Given the description of an element on the screen output the (x, y) to click on. 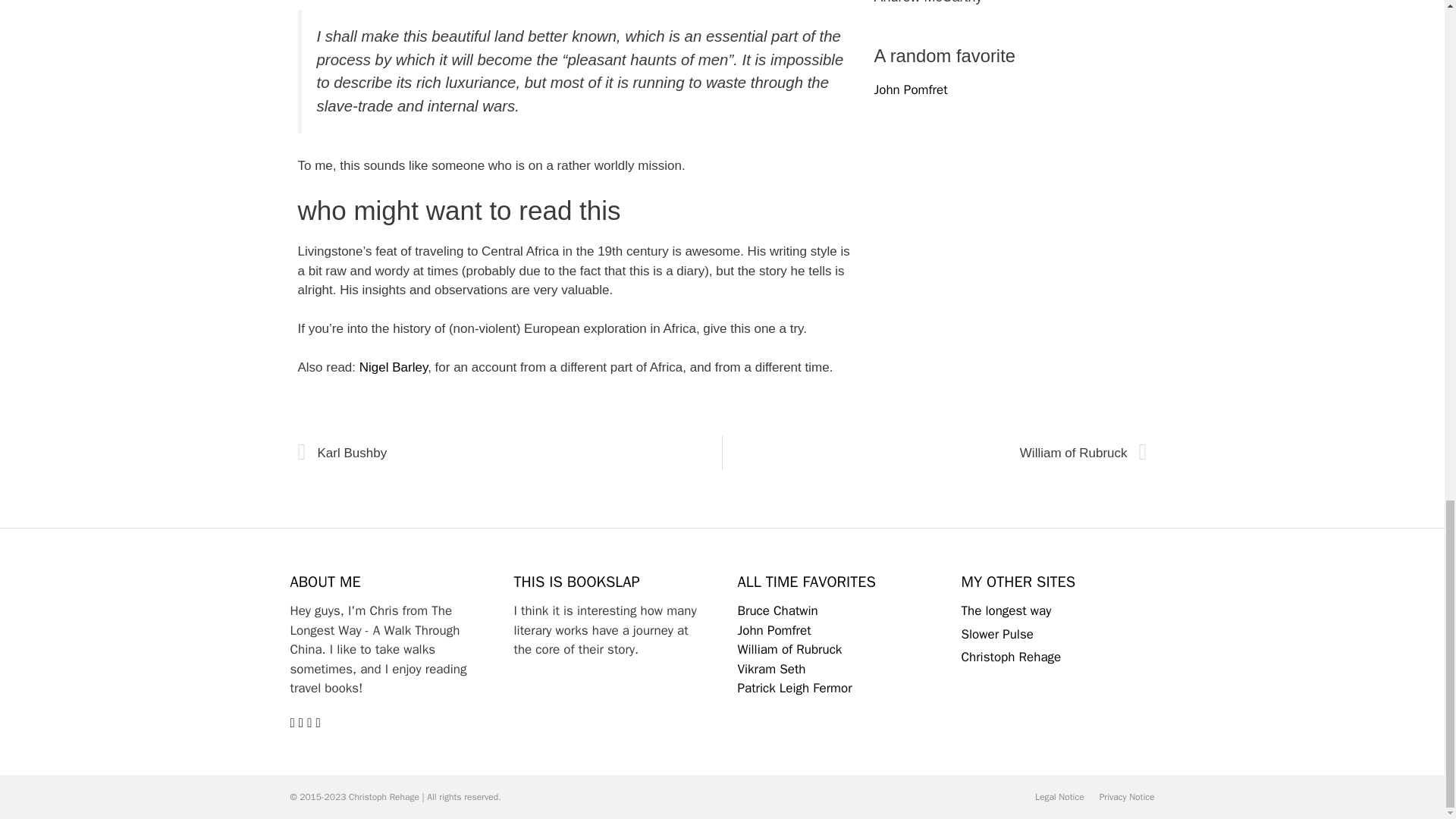
Andrew McCarthy (1010, 2)
